Given the description of an element on the screen output the (x, y) to click on. 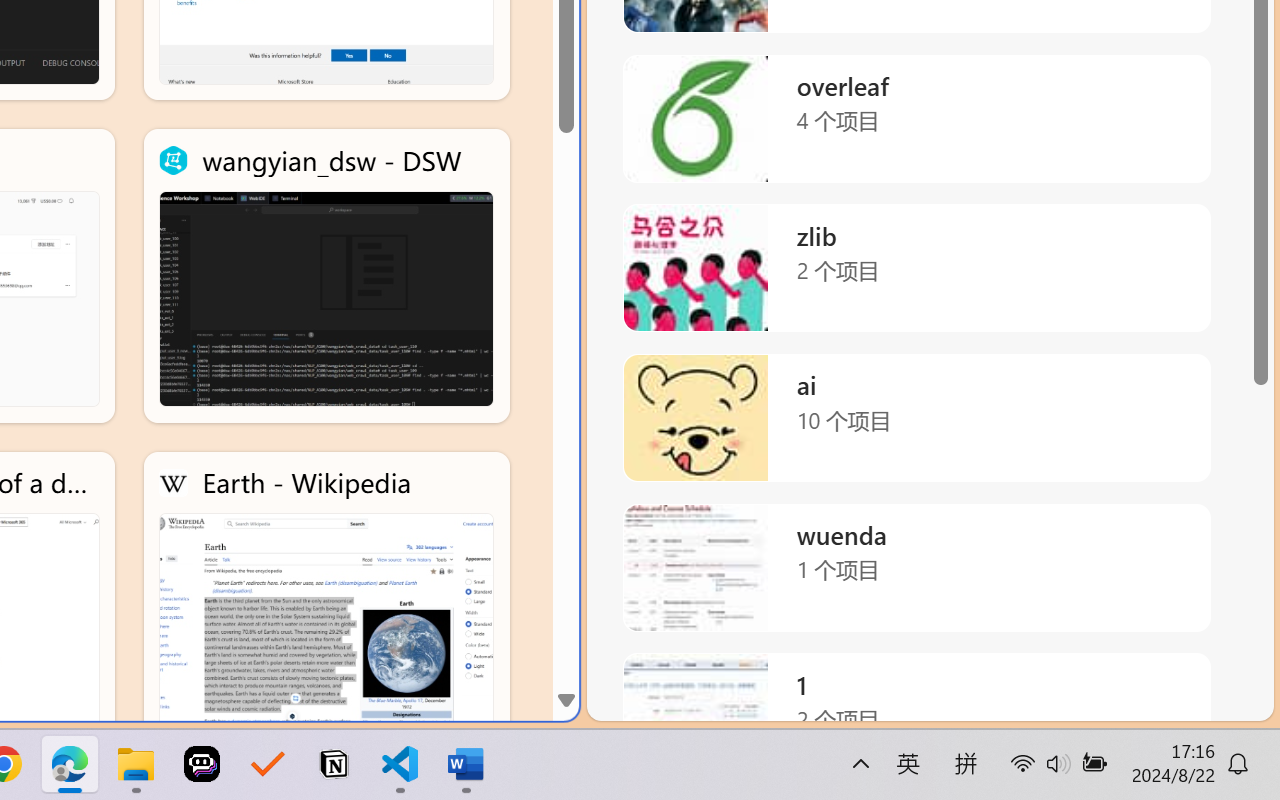
wangyian_dsw - DSW (326, 275)
Earth - Wikipedia (326, 598)
